Given the description of an element on the screen output the (x, y) to click on. 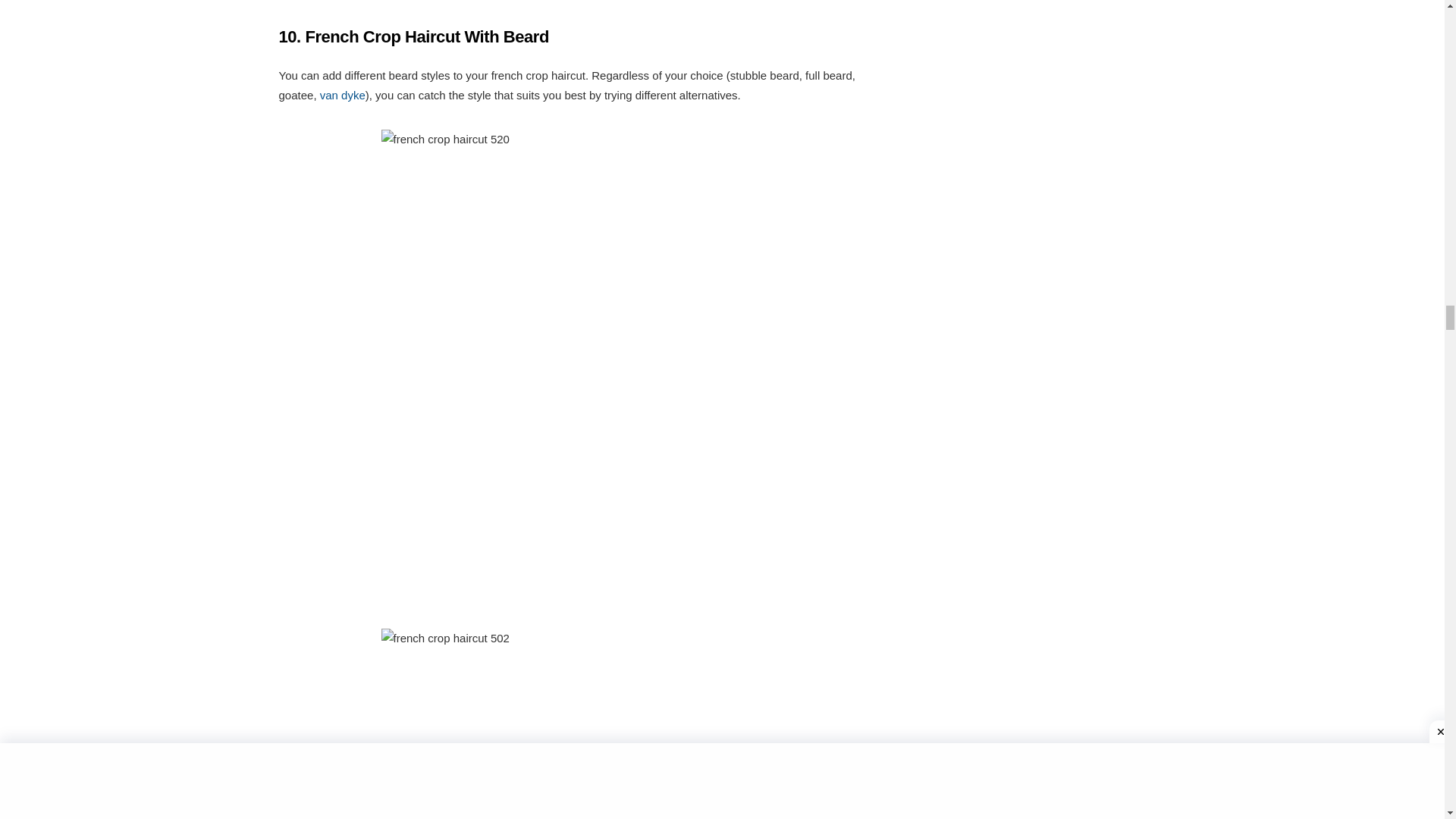
van dyke (341, 94)
